Given the description of an element on the screen output the (x, y) to click on. 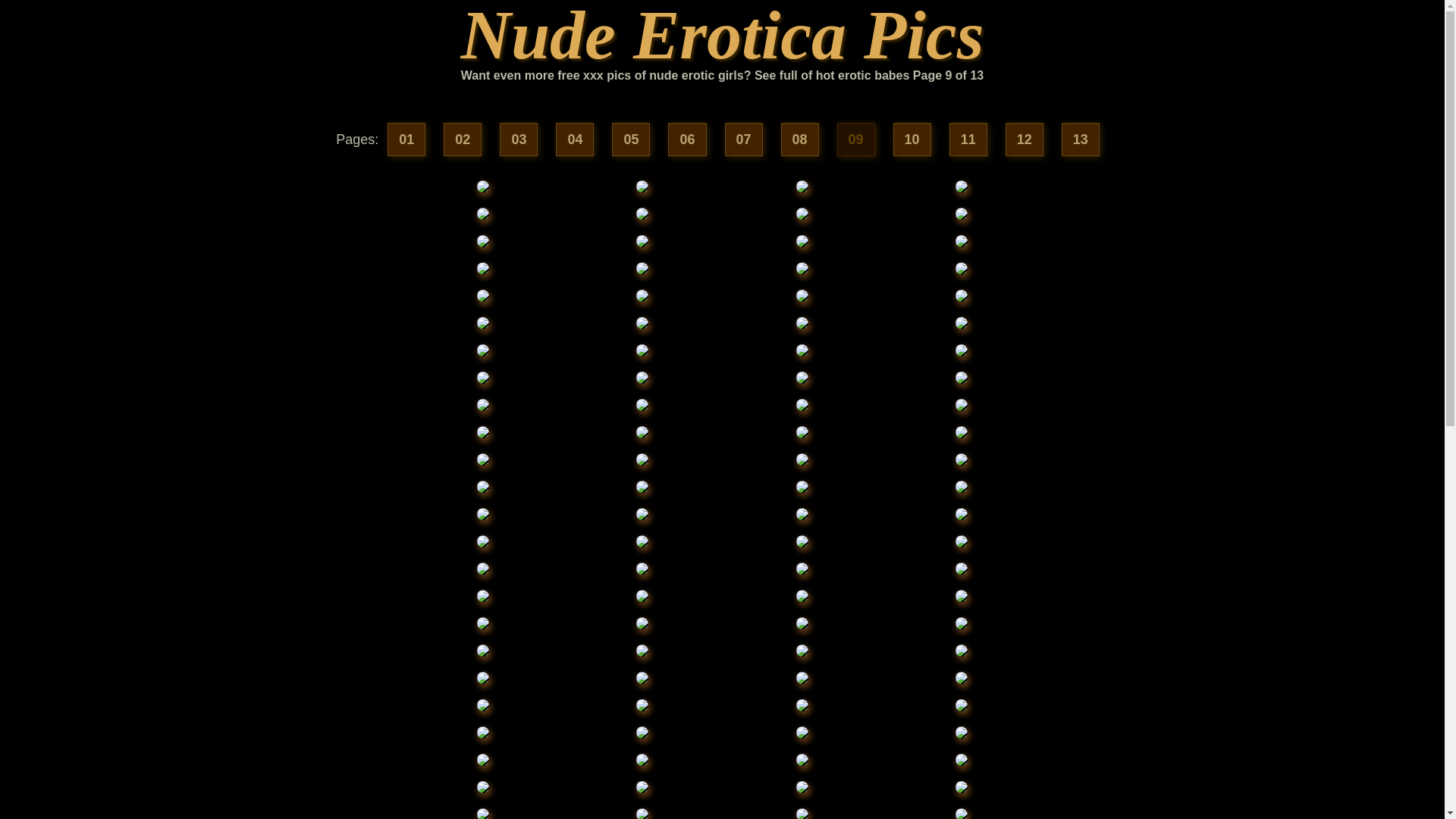
Girls XXX Pics, Page 4 (575, 139)
05 (630, 139)
Girls XXX Pics, Page 11 (968, 139)
Girls XXX Pics, Page 6 (687, 139)
11 (968, 139)
02 (462, 139)
03 (518, 139)
10 (912, 139)
Girls XXX Pics, Page 5 (630, 139)
07 (743, 139)
13 (1080, 139)
Girls XXX Pics, Page 3 (518, 139)
06 (687, 139)
04 (575, 139)
Girls XXX Pics, Page 8 (799, 139)
